Given the description of an element on the screen output the (x, y) to click on. 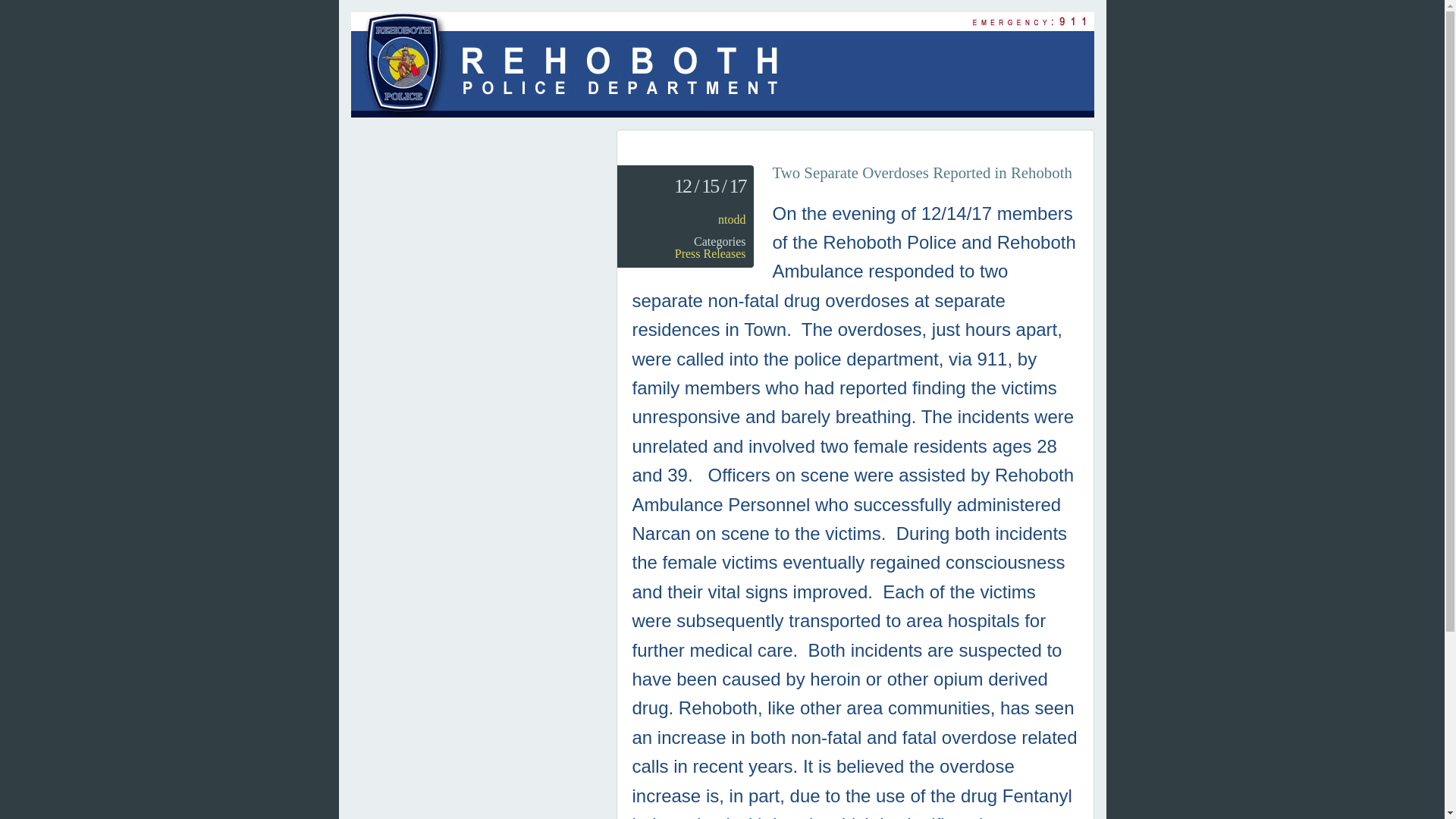
ntodd (731, 219)
ntodd (731, 219)
Two Separate Overdoses Reported in Rehoboth (921, 171)
Press Releases (710, 253)
